Given the description of an element on the screen output the (x, y) to click on. 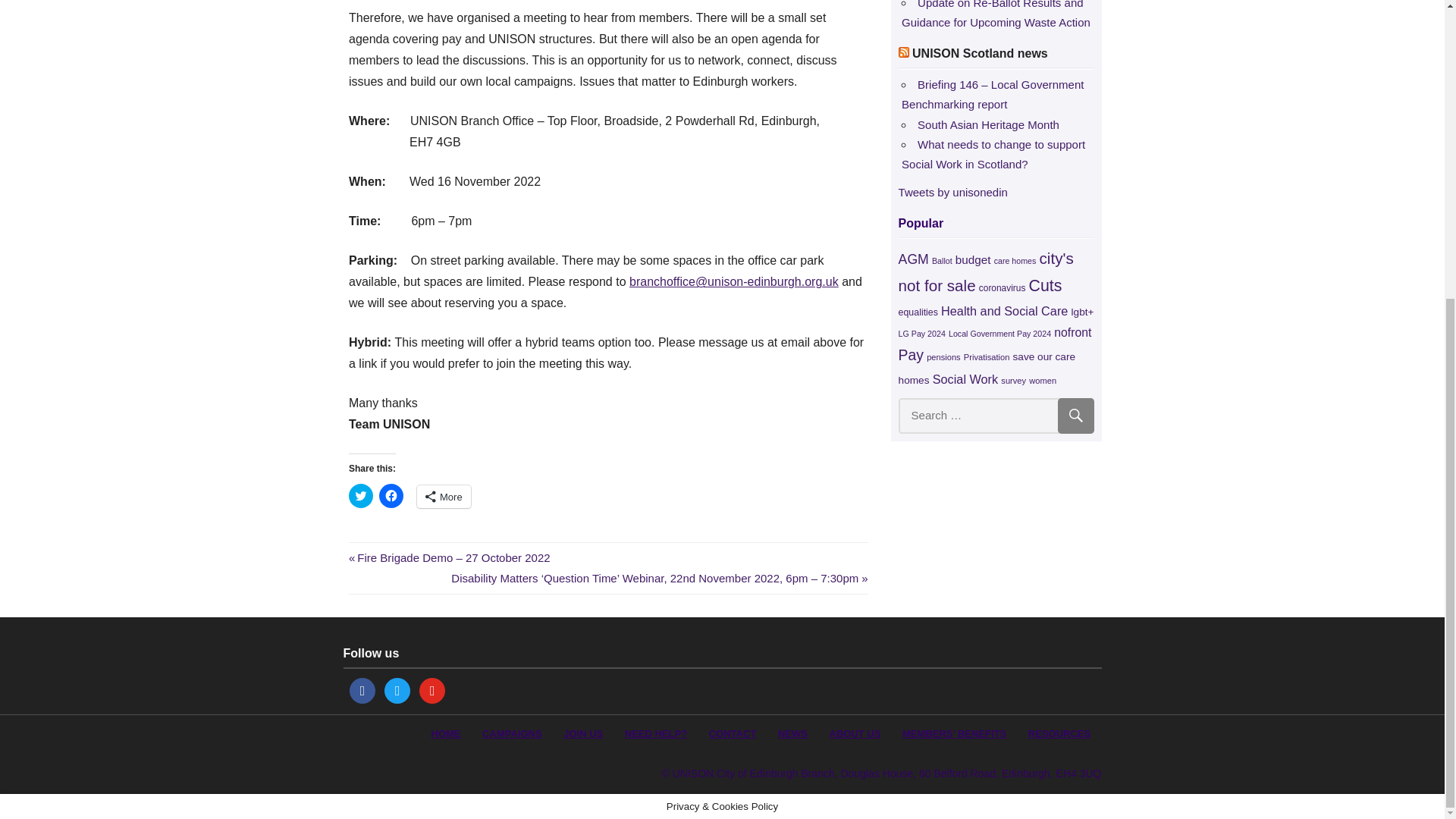
Facebook (362, 688)
Twitter (397, 688)
Search for: (996, 416)
Click to share on Facebook (390, 495)
Click to share on Twitter (360, 495)
